Given the description of an element on the screen output the (x, y) to click on. 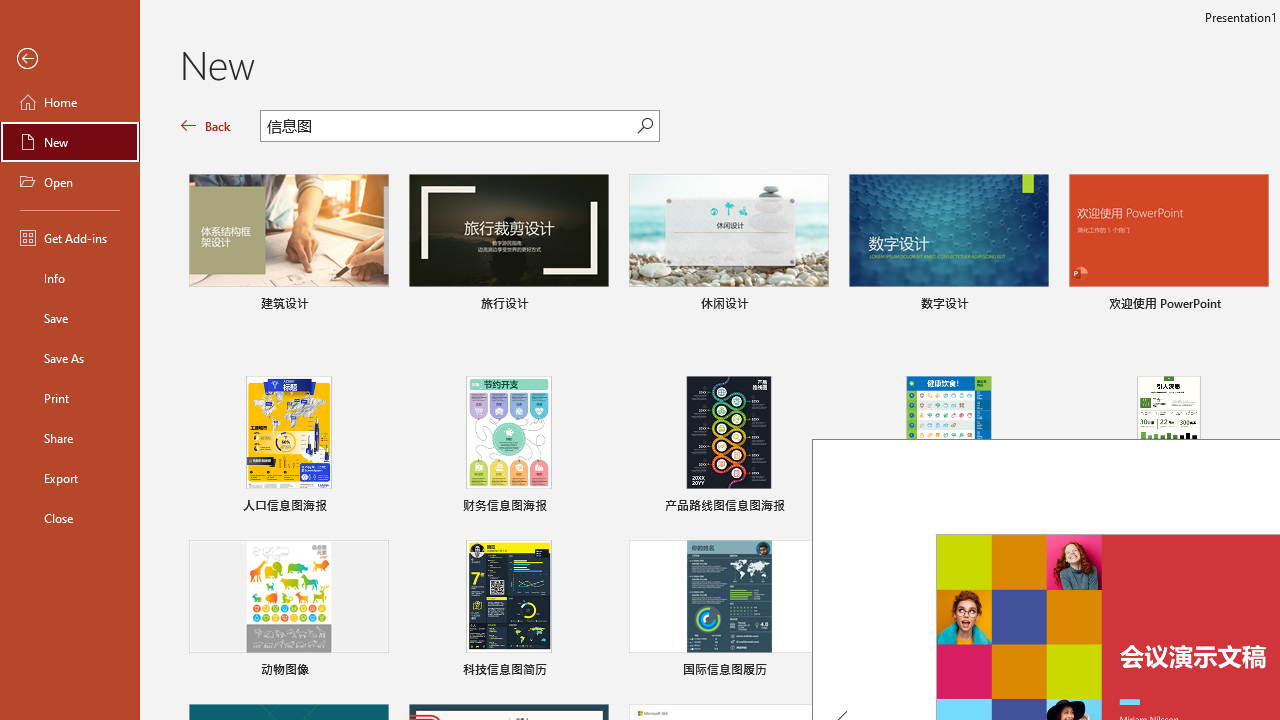
Print (69, 398)
